Given the description of an element on the screen output the (x, y) to click on. 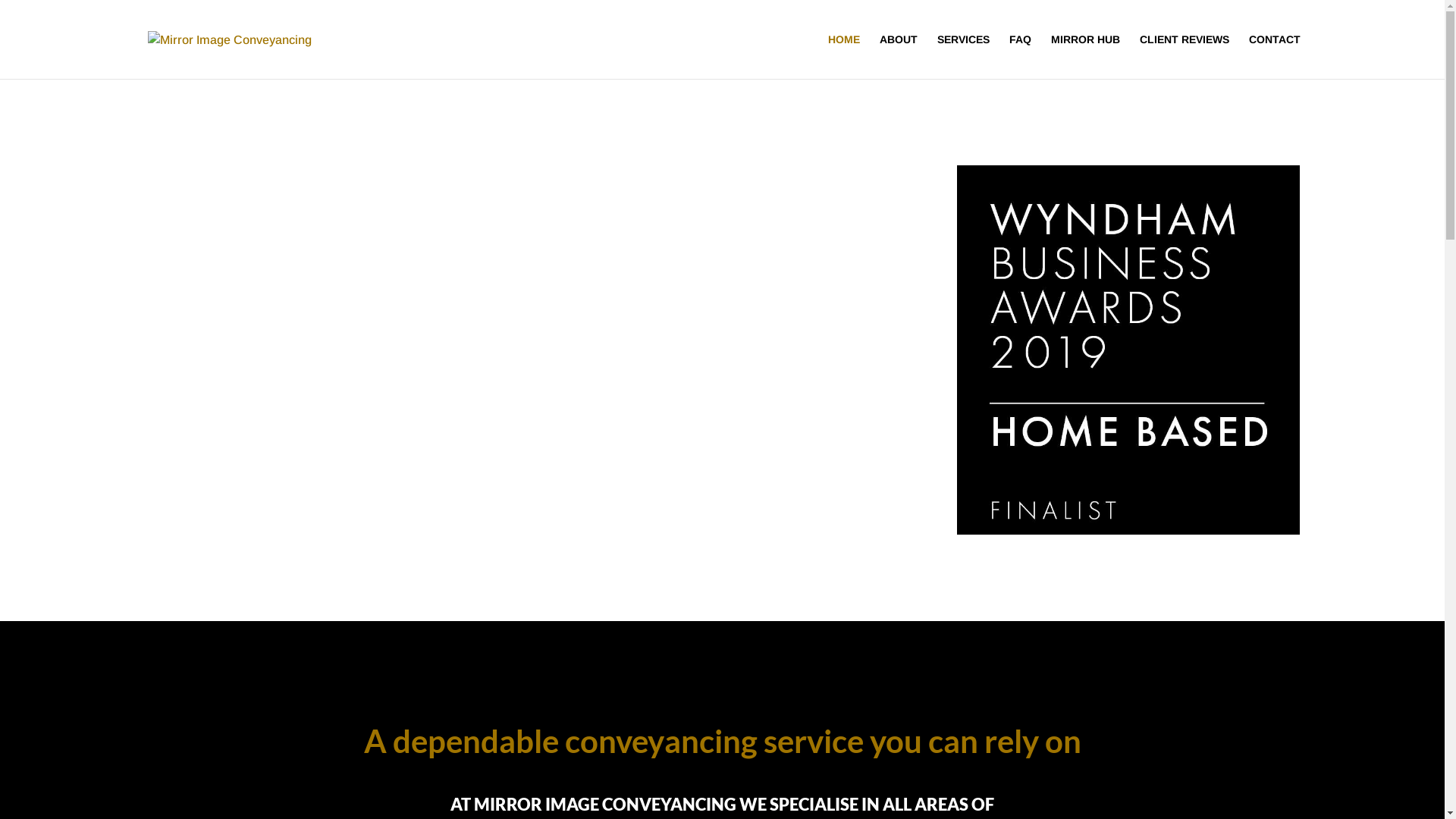
SERVICES Element type: text (963, 56)
ABOUT Element type: text (898, 56)
FAQ Element type: text (1019, 56)
CONTACT Element type: text (1273, 56)
CLIENT REVIEWS Element type: text (1183, 56)
MIRROR HUB Element type: text (1085, 56)
HOME Element type: text (843, 56)
Contact Us Element type: text (198, 480)
Contact Us Element type: text (198, 297)
